Given the description of an element on the screen output the (x, y) to click on. 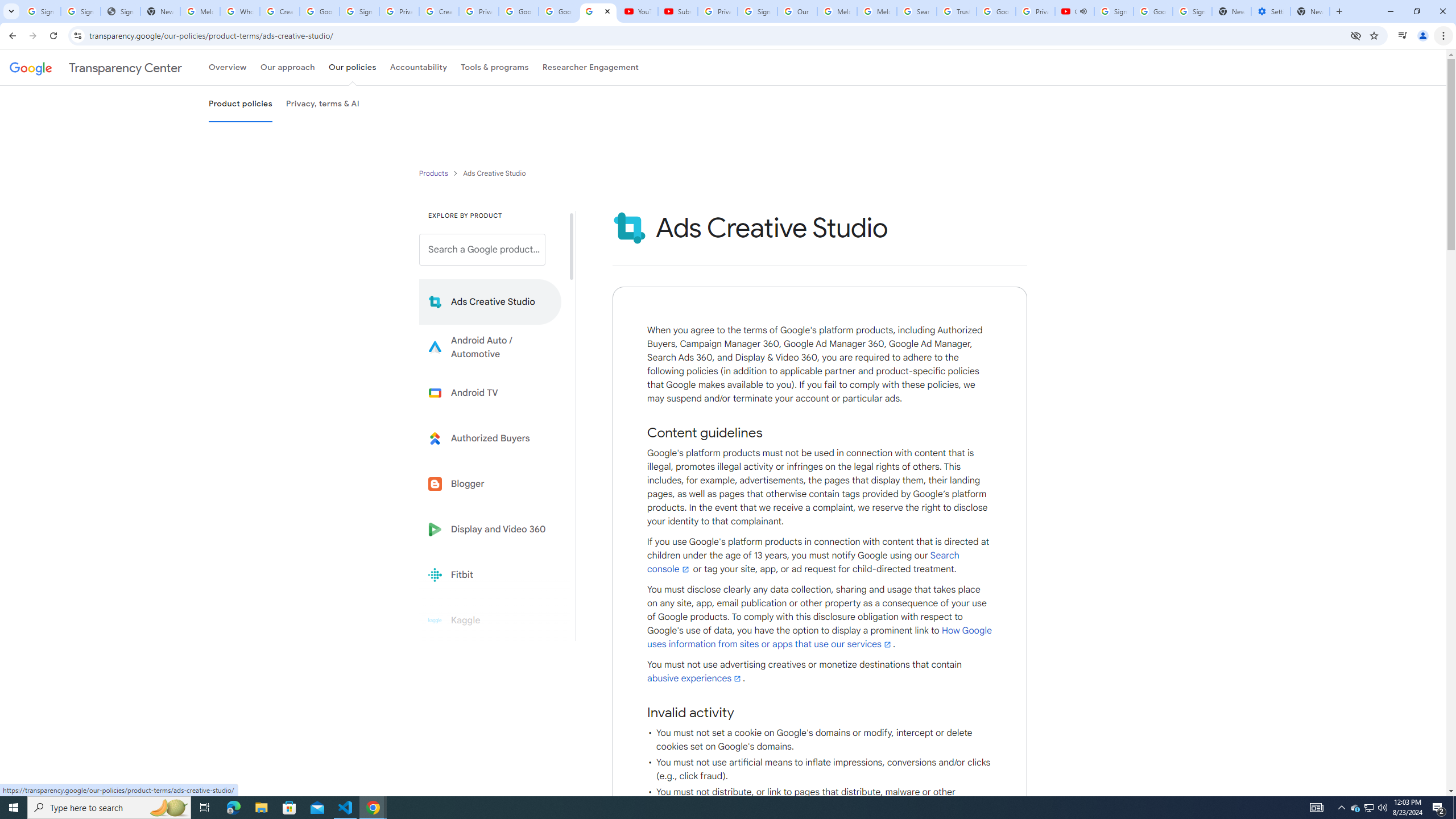
YouTube (637, 11)
Who is my administrator? - Google Account Help (239, 11)
Tools & programs (494, 67)
Privacy, terms & AI (322, 103)
Google Cybersecurity Innovations - Google Safety Center (1152, 11)
Sign in - Google Accounts (80, 11)
Sign in - Google Accounts (359, 11)
Kaggle (490, 619)
